Given the description of an element on the screen output the (x, y) to click on. 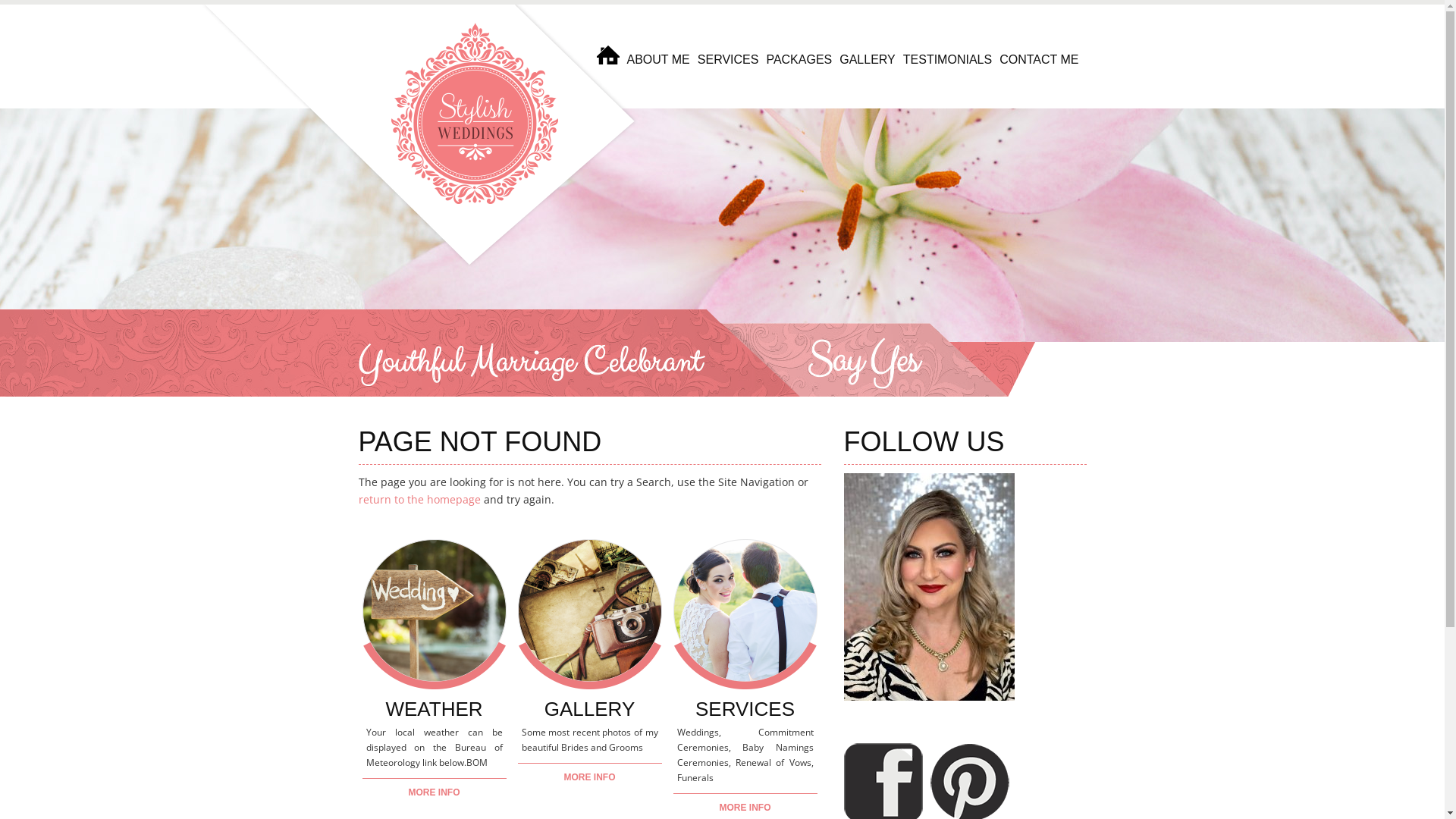
SERVICES Element type: text (744, 708)
return to the homepage Element type: text (418, 499)
SERVICES Element type: text (727, 59)
MORE INFO Element type: text (589, 776)
Weather Element type: hover (433, 614)
MORE INFO Element type: text (434, 792)
GALLERY Element type: text (867, 59)
WEATHER Element type: text (433, 708)
PACKAGES Element type: text (798, 59)
HOME Element type: text (607, 59)
GALLERY Element type: text (589, 708)
TESTIMONIALS Element type: text (947, 59)
CONTACT ME Element type: text (1038, 59)
Gallery Element type: hover (589, 614)
ABOUT ME Element type: text (658, 59)
STYLISH WEDDINGS Element type: text (420, 141)
Services Element type: hover (744, 614)
